Given the description of an element on the screen output the (x, y) to click on. 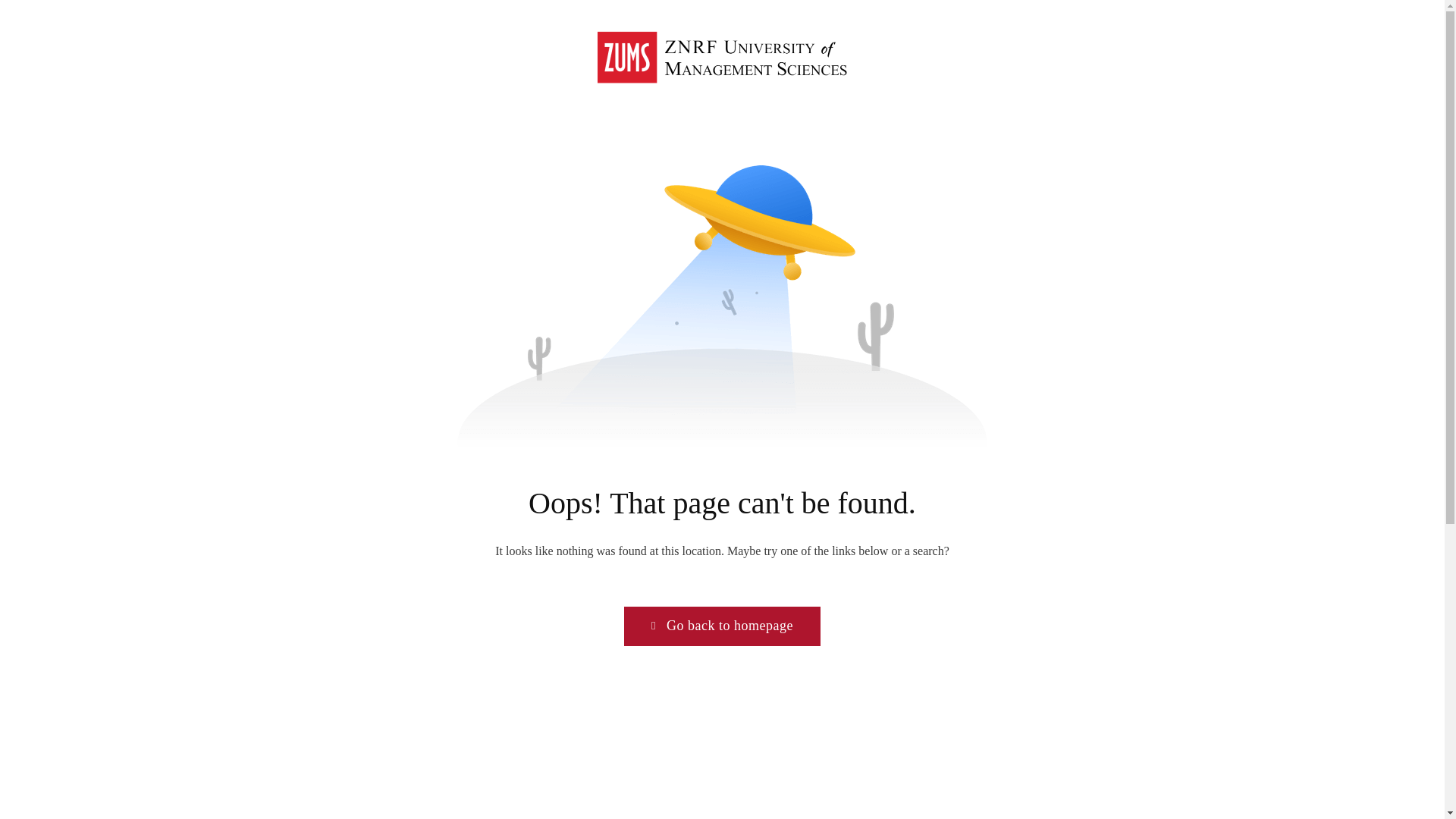
Go back to homepage Element type: text (722, 626)
